Given the description of an element on the screen output the (x, y) to click on. 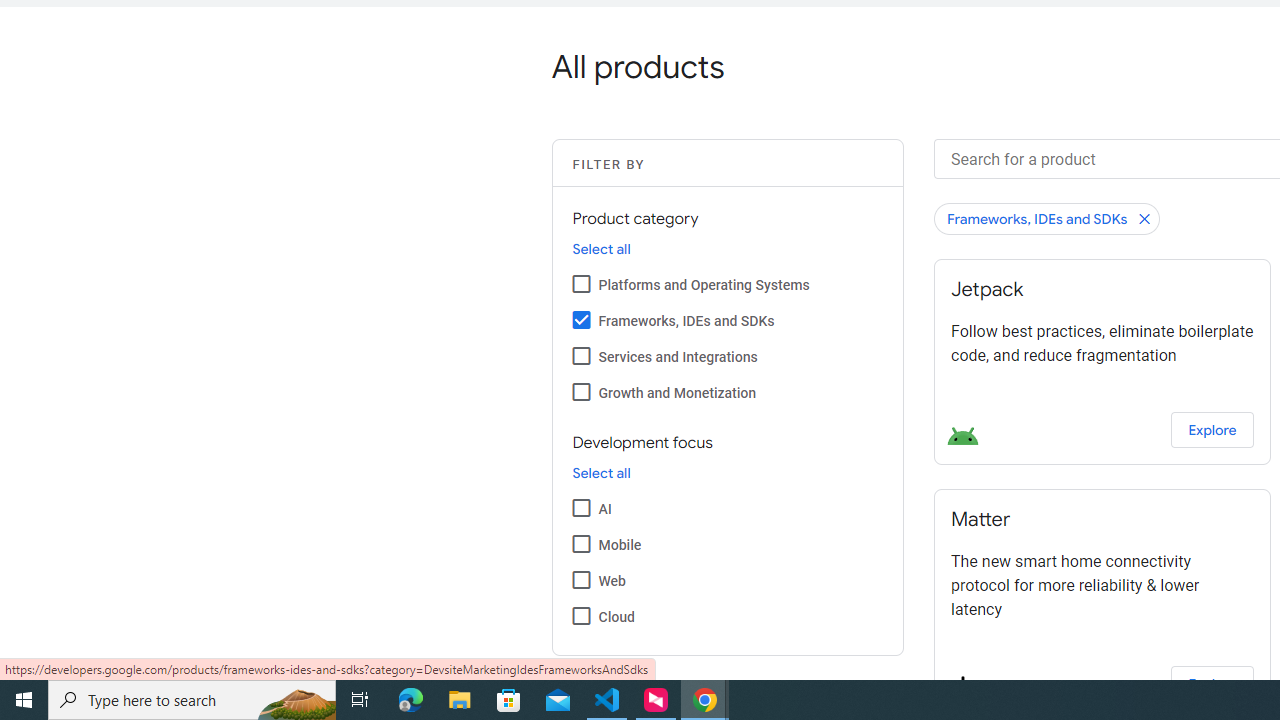
AI (581, 507)
Remove Frameworks, IDEs and SDKs filter (1047, 218)
Select all (601, 473)
Cloud (581, 615)
Growth and Monetization (581, 391)
Services and Integrations (581, 355)
Web (581, 579)
AutomationID: devsitemarketingidesframeworksandsdks (581, 319)
Mobile (581, 543)
Platforms and Operating Systems (581, 283)
Explore (1212, 684)
